Given the description of an element on the screen output the (x, y) to click on. 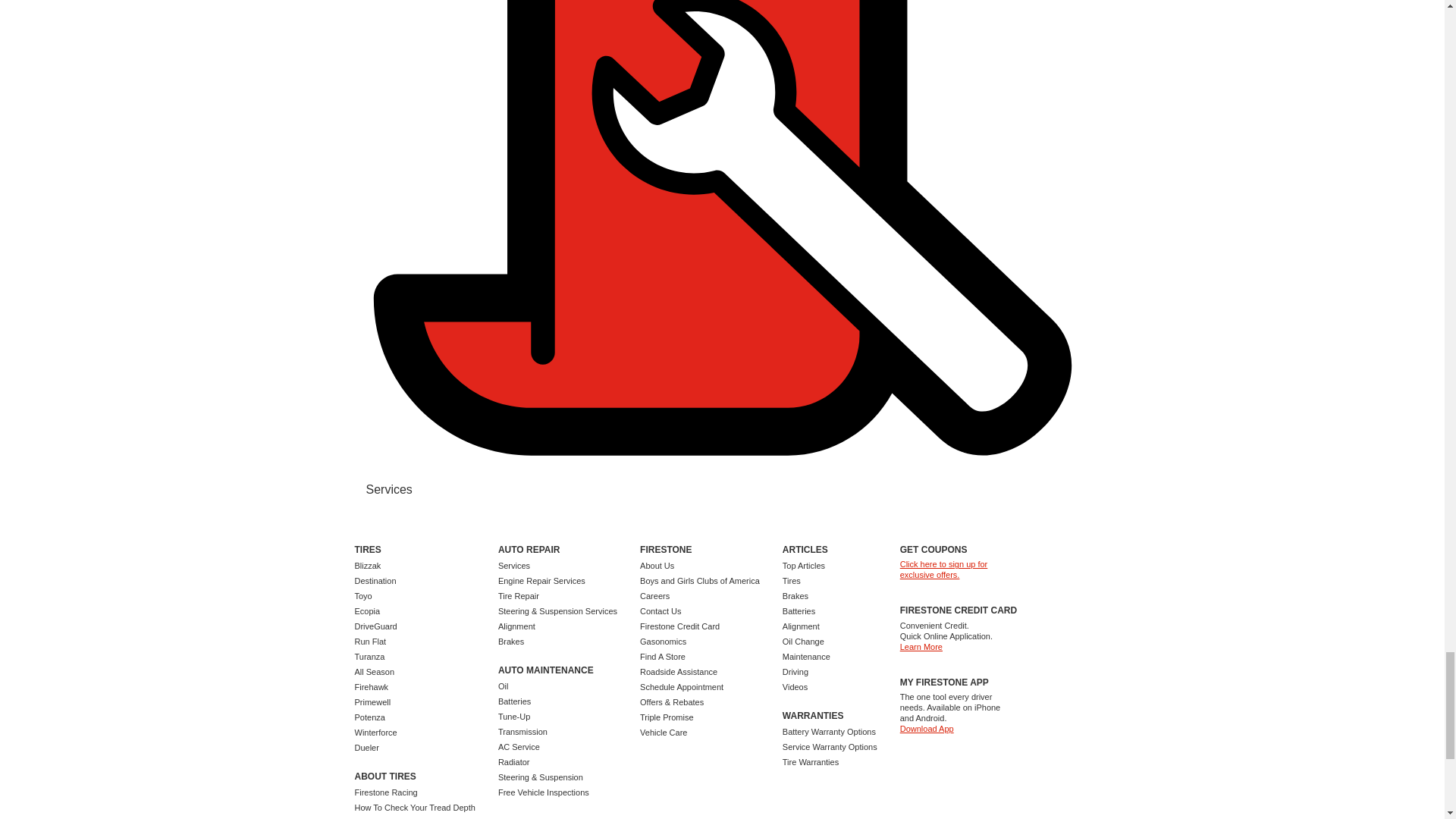
Services (388, 489)
Dueler (366, 747)
Blizzak (368, 565)
All Season (374, 671)
Toyo (363, 595)
Firehawk (371, 686)
Winterforce (376, 732)
Firestone Racing (386, 791)
Run Flat (371, 641)
DriveGuard (376, 625)
